Given the description of an element on the screen output the (x, y) to click on. 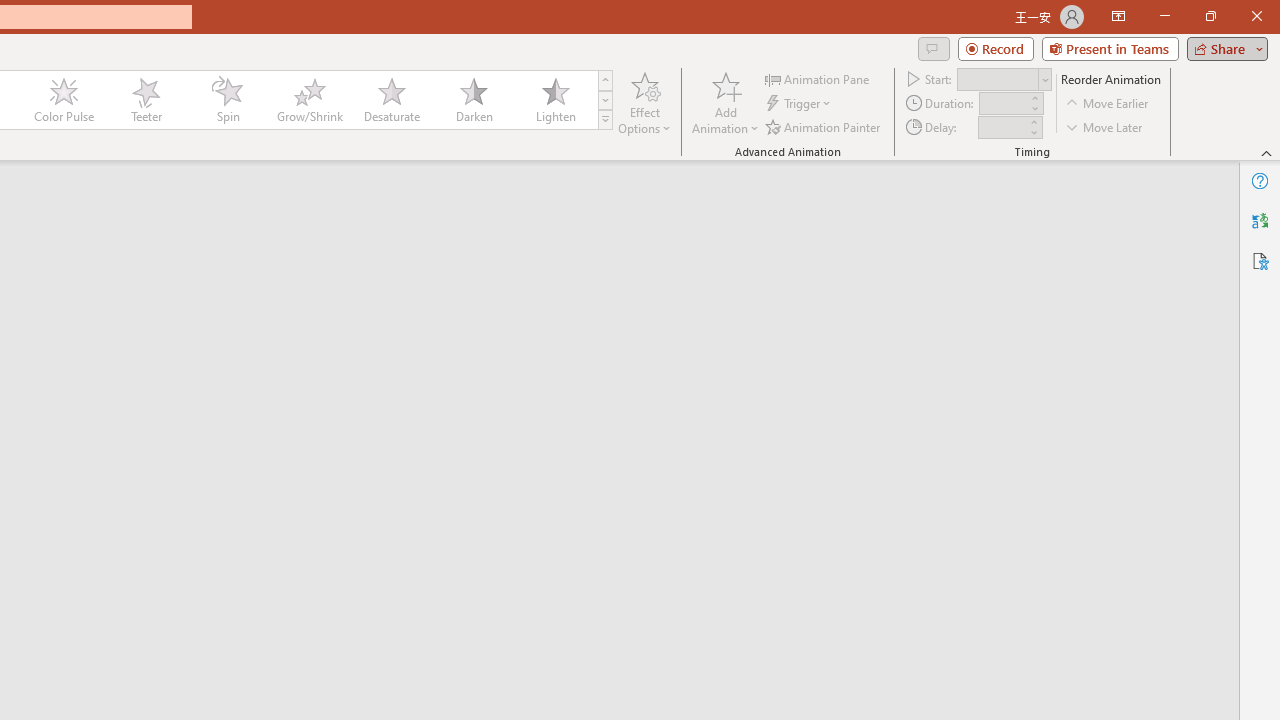
Animation Delay (1002, 127)
Move Earlier (1107, 103)
Trigger (799, 103)
Darken (473, 100)
Open (1044, 79)
Animation Pane (818, 78)
Desaturate (391, 100)
Less (1033, 132)
Effect Options (644, 102)
Row up (605, 79)
Teeter (145, 100)
